Given the description of an element on the screen output the (x, y) to click on. 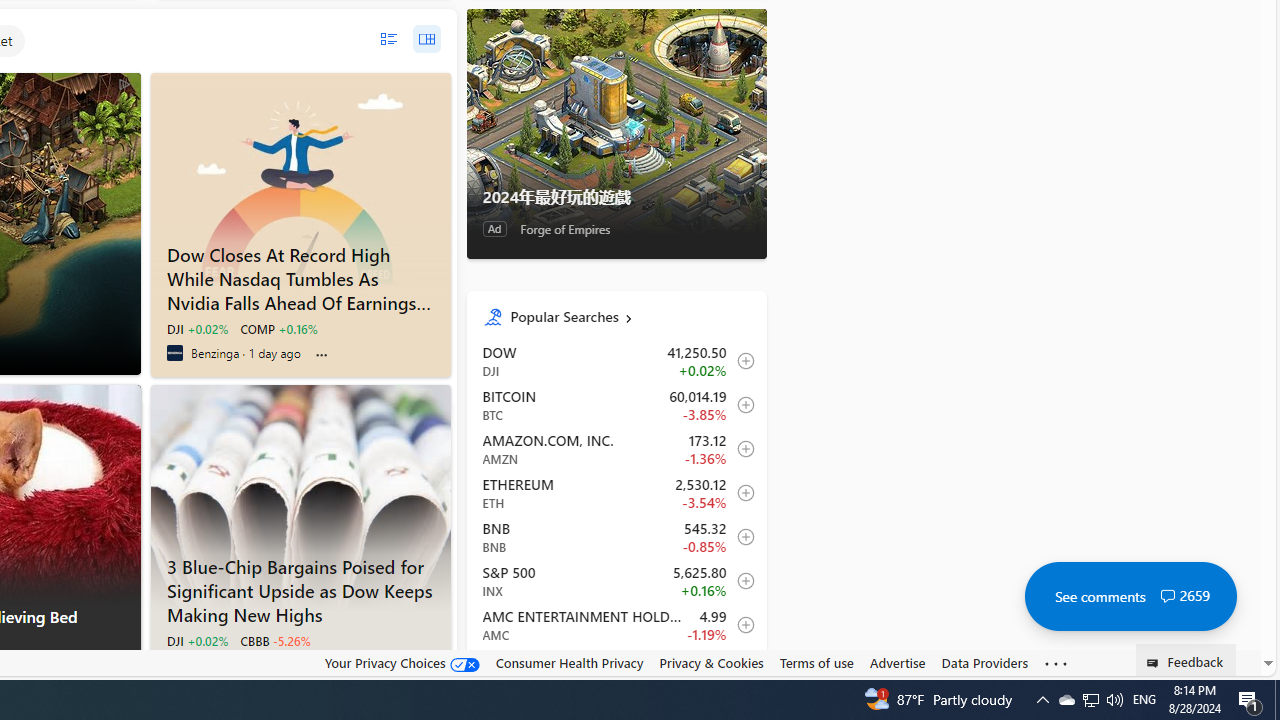
Class: cwt-icon-vector (1167, 596)
COMP +0.16% (278, 328)
grid layout (426, 39)
DJI +0.02% (196, 640)
Add to Watchlist (740, 668)
AdChoices (123, 669)
Consumer Health Privacy (569, 662)
Your Privacy Choices (401, 662)
ETH Ethereum decrease 2,530.12 -89.57 -3.54% itemundefined (615, 492)
Class: feedback_link_icon-DS-EntryPoint1-1 (1156, 663)
Class: oneFooter_seeMore-DS-EntryPoint1-1 (1055, 663)
Advertise (897, 662)
